Given the description of an element on the screen output the (x, y) to click on. 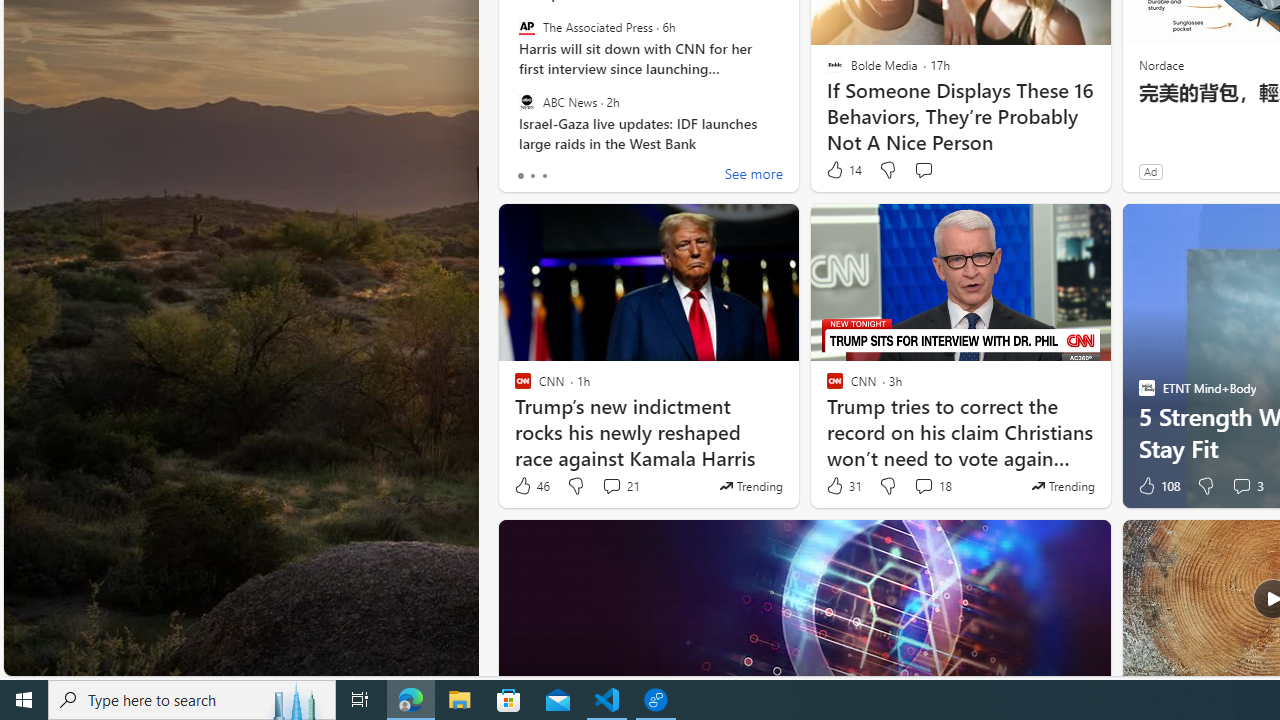
View comments 3 Comment (1241, 485)
14 Like (843, 170)
View comments 18 Comment (923, 485)
tab-0 (520, 175)
tab-1 (532, 175)
View comments 18 Comment (932, 485)
108 Like (1157, 485)
This story is trending (1062, 485)
